Given the description of an element on the screen output the (x, y) to click on. 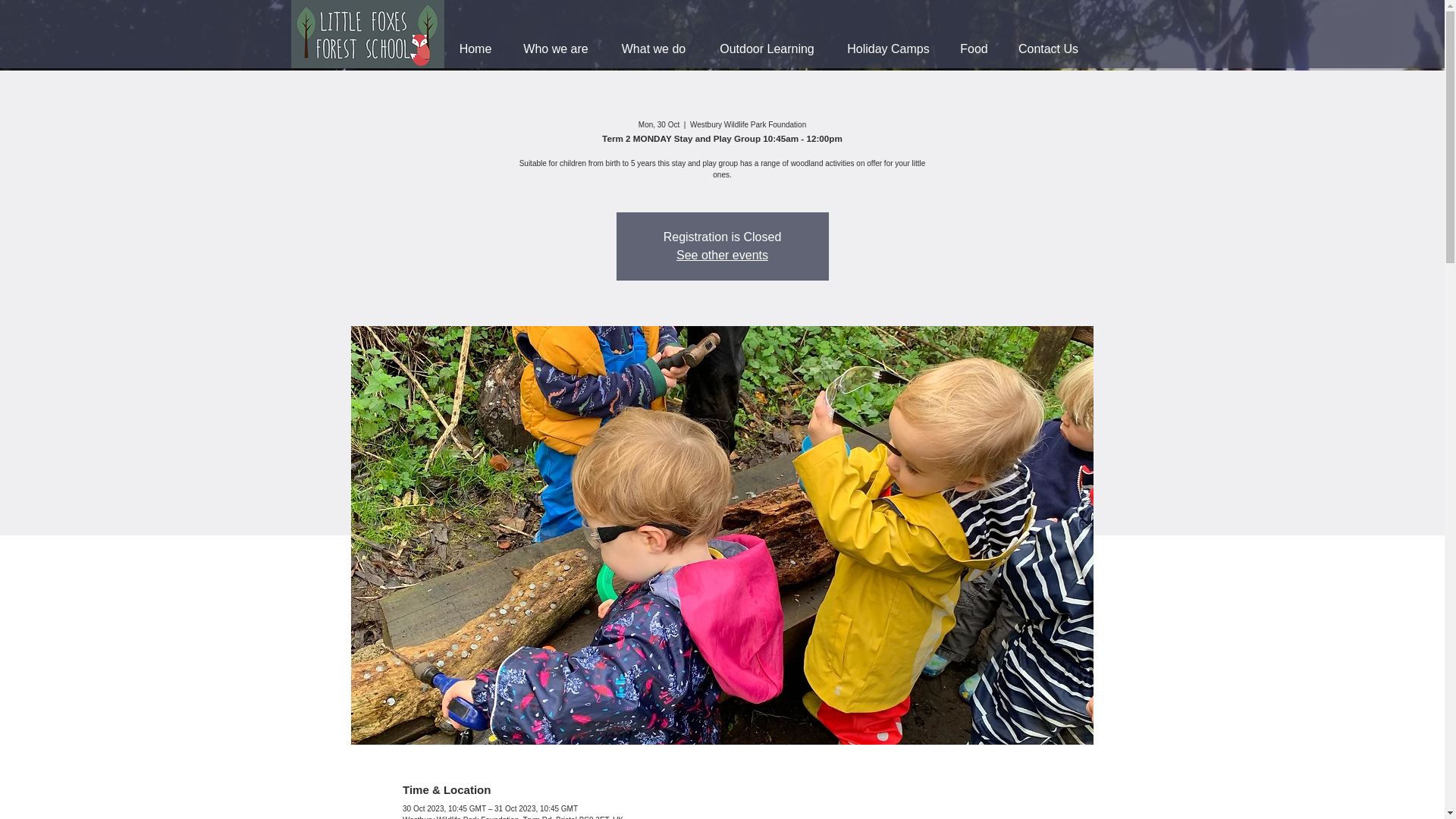
See other events (722, 254)
Home (475, 48)
Food (973, 48)
Holiday Camps (887, 48)
